Given the description of an element on the screen output the (x, y) to click on. 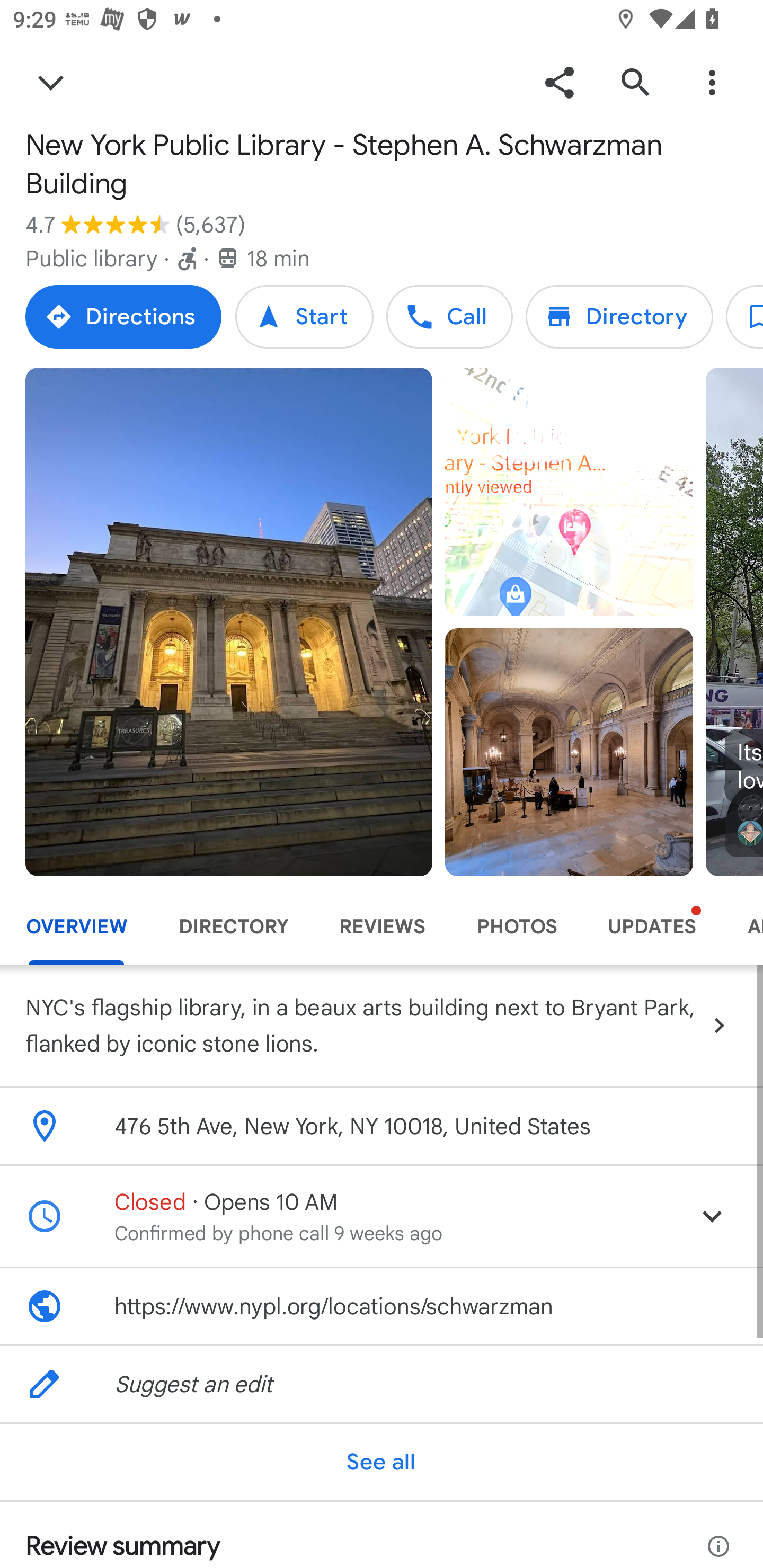
Back to Search (50, 81)
Share (559, 81)
Search (635, 81)
Start Start Start (304, 316)
Directory Directory Directory (619, 316)
Photo (228, 621)
Video (568, 491)
Photo (568, 752)
DIRECTORY Directory (232, 927)
REVIEWS Reviews (381, 927)
PHOTOS Photos (516, 927)
UPDATES Updates New updates in Updates (651, 927)
Suggest an edit (381, 1383)
